Given the description of an element on the screen output the (x, y) to click on. 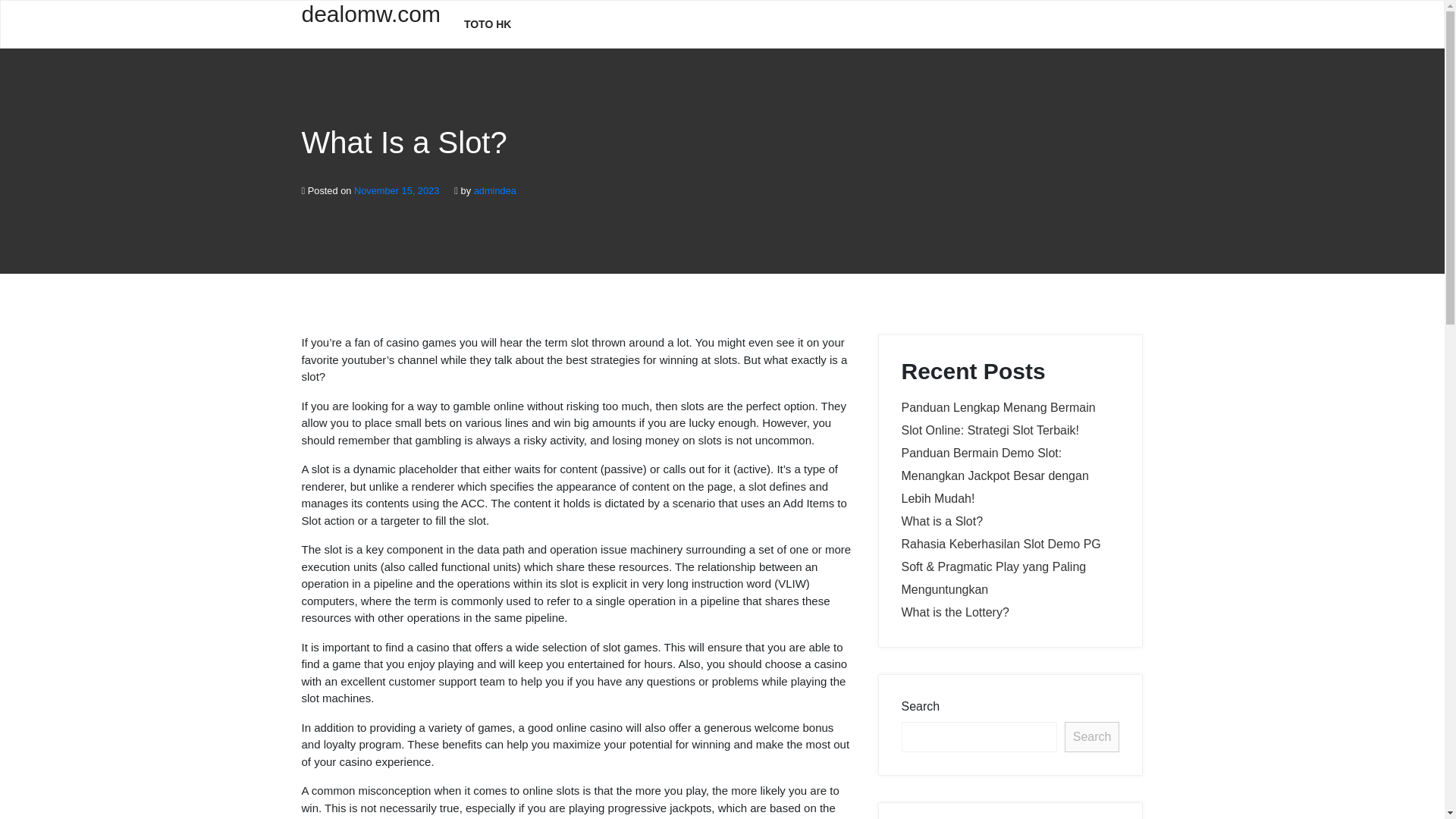
admindea (495, 190)
Toto Hk (487, 23)
dealomw.com (371, 22)
TOTO HK (487, 23)
What is a Slot? (941, 521)
November 15, 2023 (396, 190)
What is the Lottery? (955, 612)
Search (1091, 736)
